Given the description of an element on the screen output the (x, y) to click on. 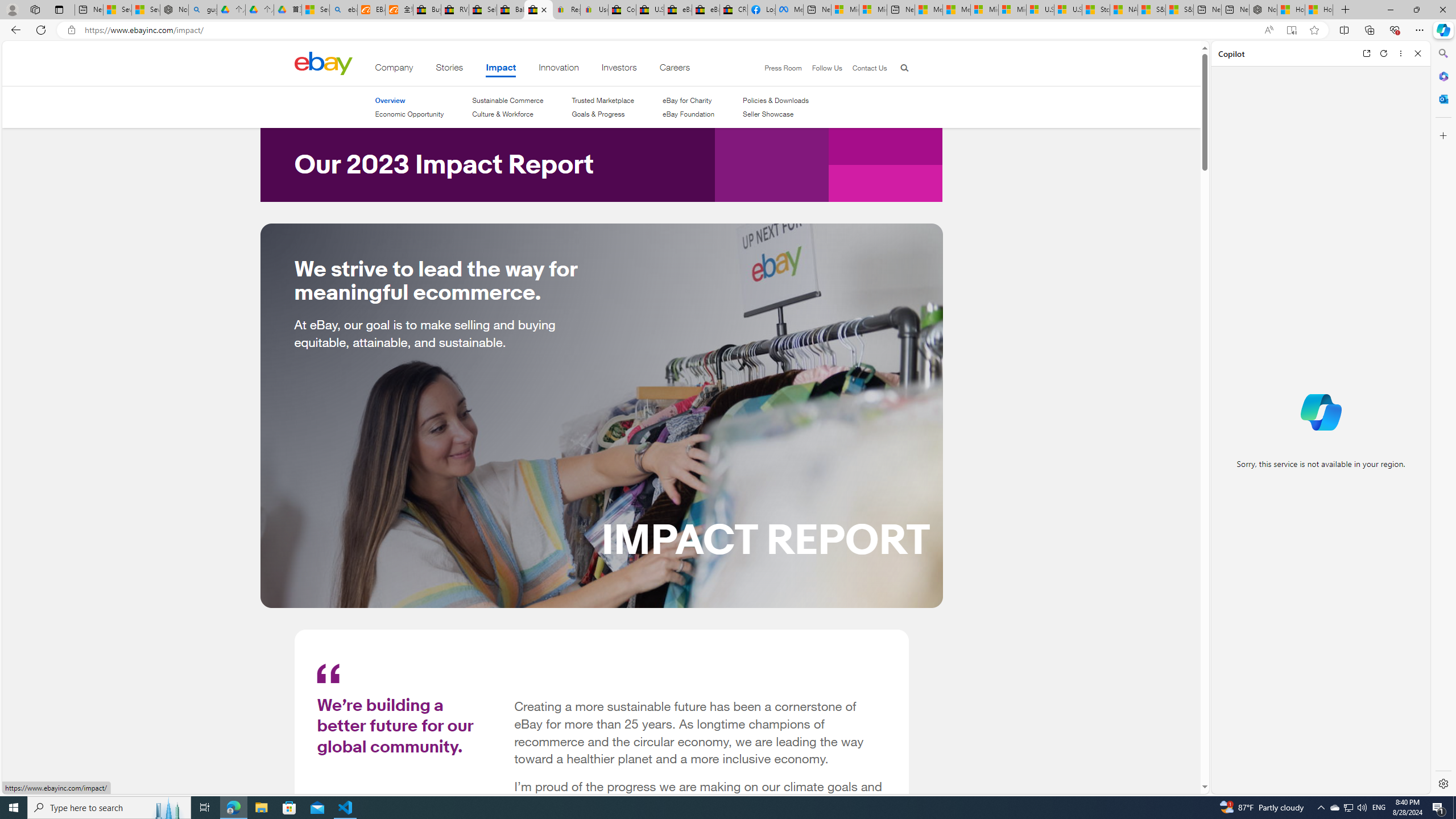
S&P 500, Nasdaq end lower, weighed by Nvidia dip | Watch (1179, 9)
How to Use a Monitor With Your Closed Laptop (1319, 9)
eBay seller Malena Martinez organizes vintage fashion items. (601, 415)
Overview (409, 100)
Sustainable Commerce (507, 100)
Impact (501, 69)
Sustainable Commerce (507, 99)
Company (393, 69)
Trusted Marketplace (603, 100)
eBay for Charity (688, 100)
